Given the description of an element on the screen output the (x, y) to click on. 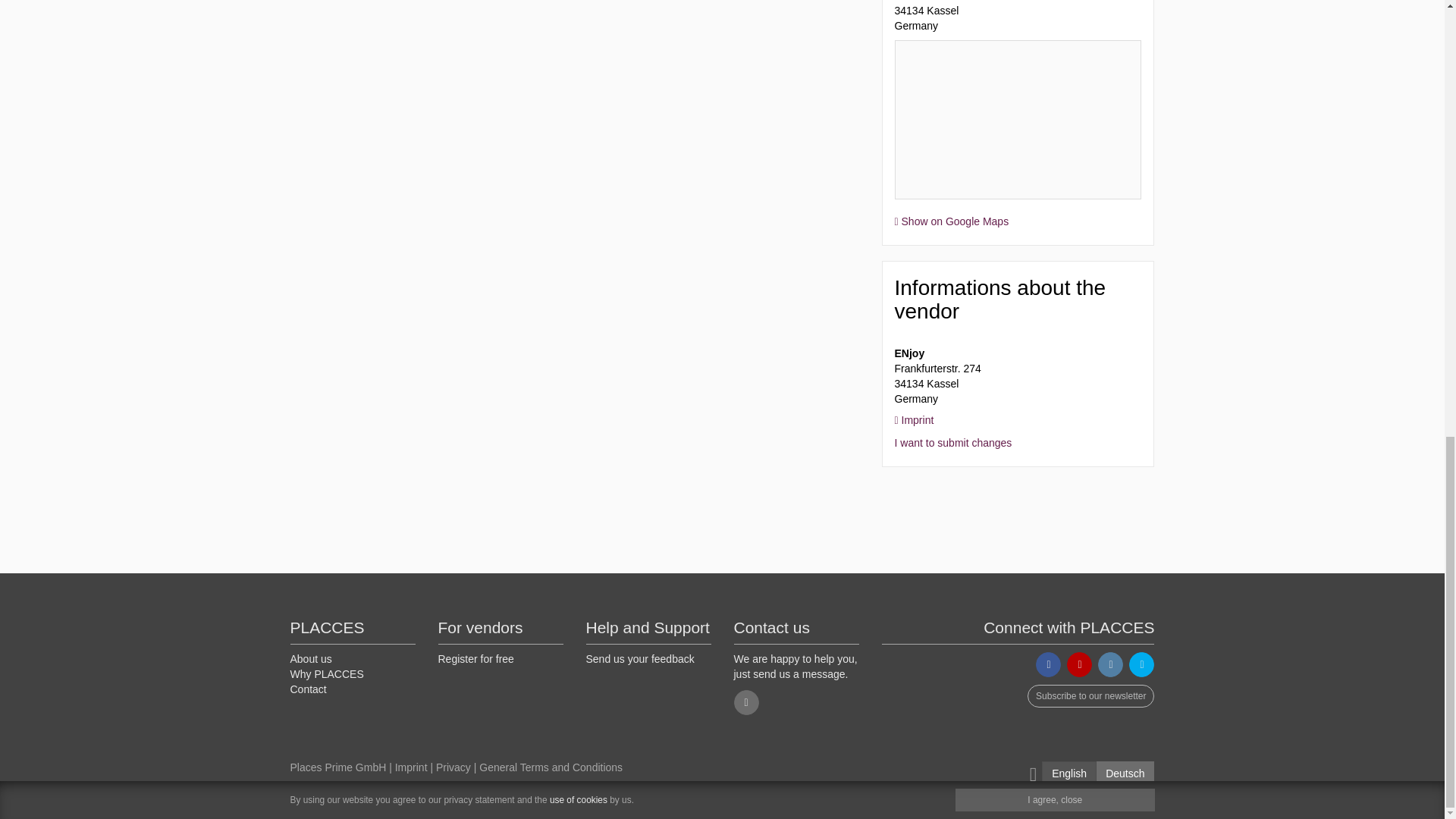
I want to submit changes (953, 442)
Show on Google Maps (952, 221)
Visit PLACCES on Facebook (1048, 664)
Imprint (914, 419)
Send an e-mail to PLACCES (745, 702)
Visit PLACCES on Twitter (1141, 664)
Visit PLACCES on Youtube (1079, 664)
Visit PLACCES on Instagram (1109, 664)
About us (310, 658)
